Given the description of an element on the screen output the (x, y) to click on. 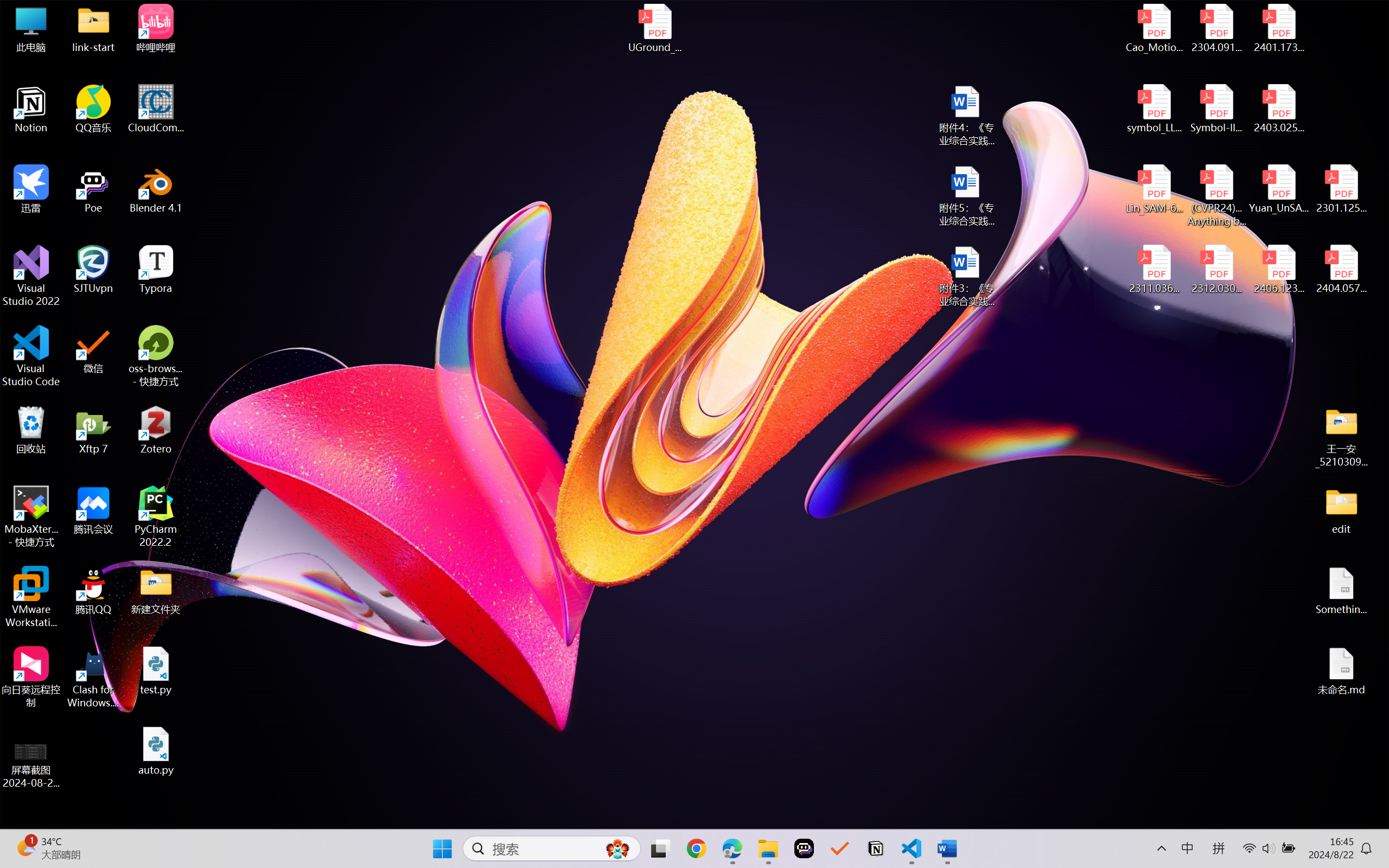
2403.02502v1.pdf (1278, 109)
Blender 4.1 (156, 189)
Something.md (1340, 591)
auto.py (156, 751)
test.py (156, 670)
SJTUvpn (93, 269)
